Given the description of an element on the screen output the (x, y) to click on. 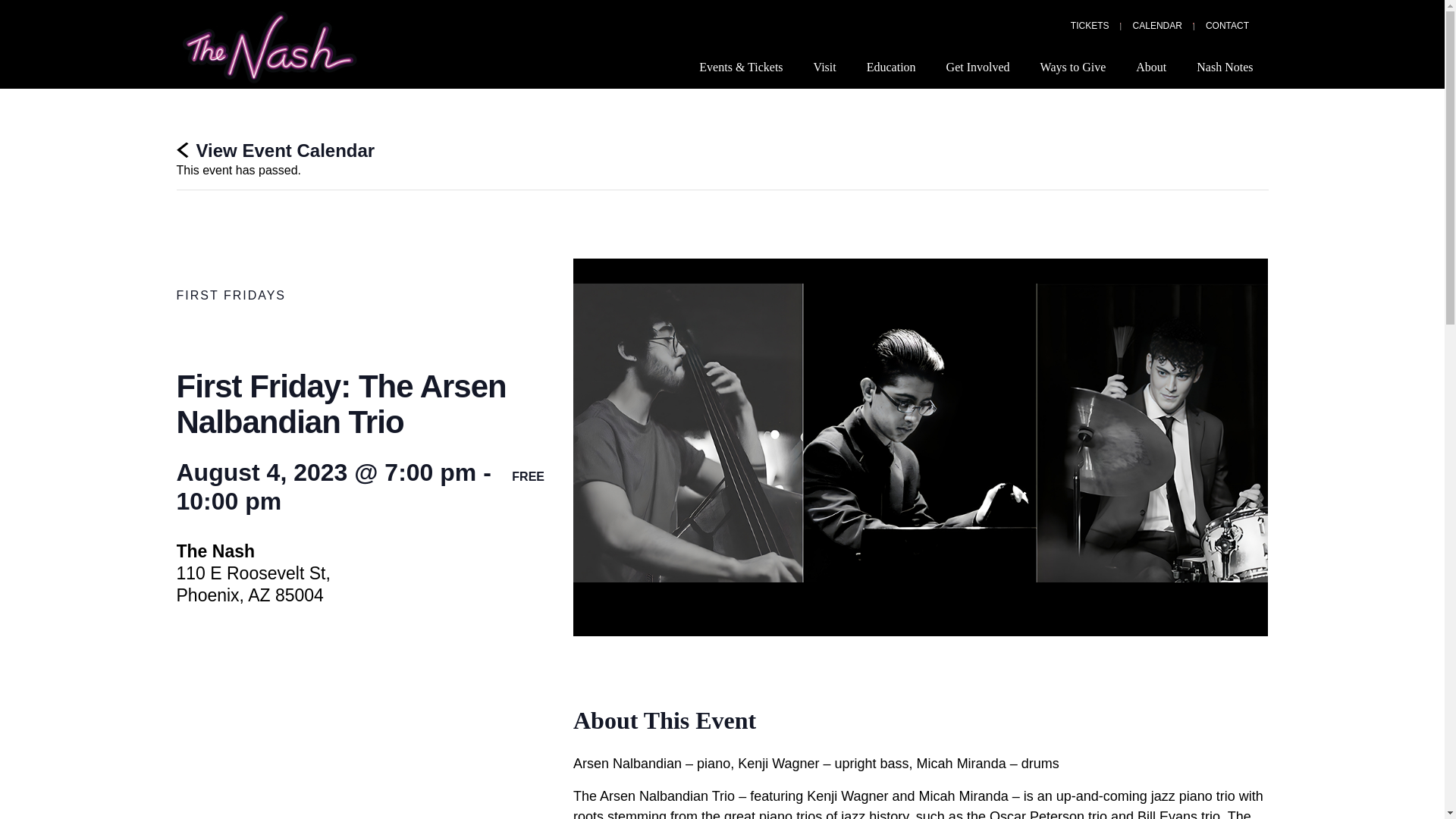
Skip to content (15, 7)
